Given the description of an element on the screen output the (x, y) to click on. 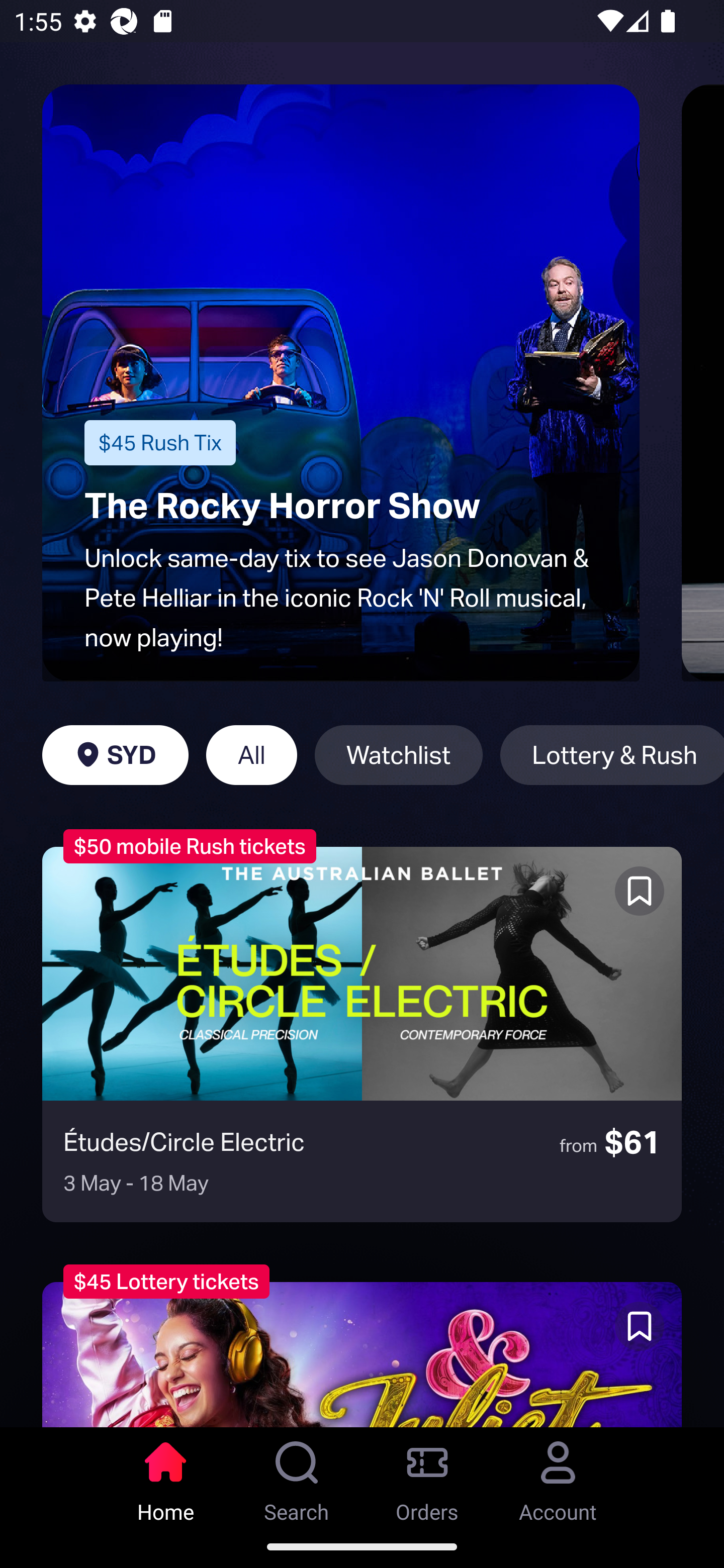
SYD (114, 754)
All (251, 754)
Watchlist (398, 754)
Lottery & Rush (612, 754)
Études/Circle Electric from $61 3 May - 18 May (361, 1033)
Search (296, 1475)
Orders (427, 1475)
Account (558, 1475)
